Given the description of an element on the screen output the (x, y) to click on. 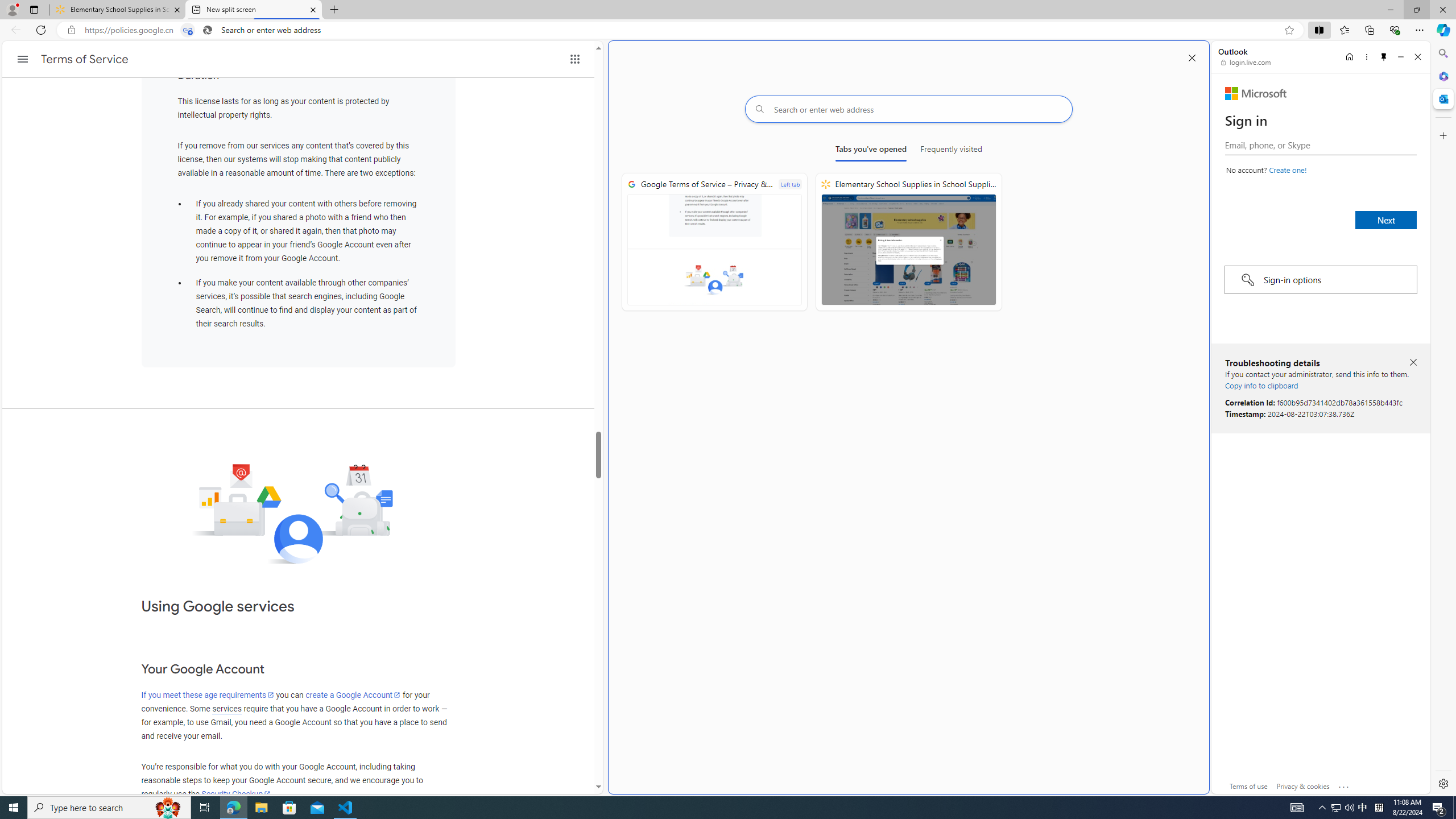
Settings (1442, 783)
Settings and more (Alt+F) (1419, 29)
Tabs in split screen (187, 29)
Click here for troubleshooting information (1344, 784)
Add this page to favorites (Ctrl+D) (1289, 29)
Tab actions menu (33, 9)
